Given the description of an element on the screen output the (x, y) to click on. 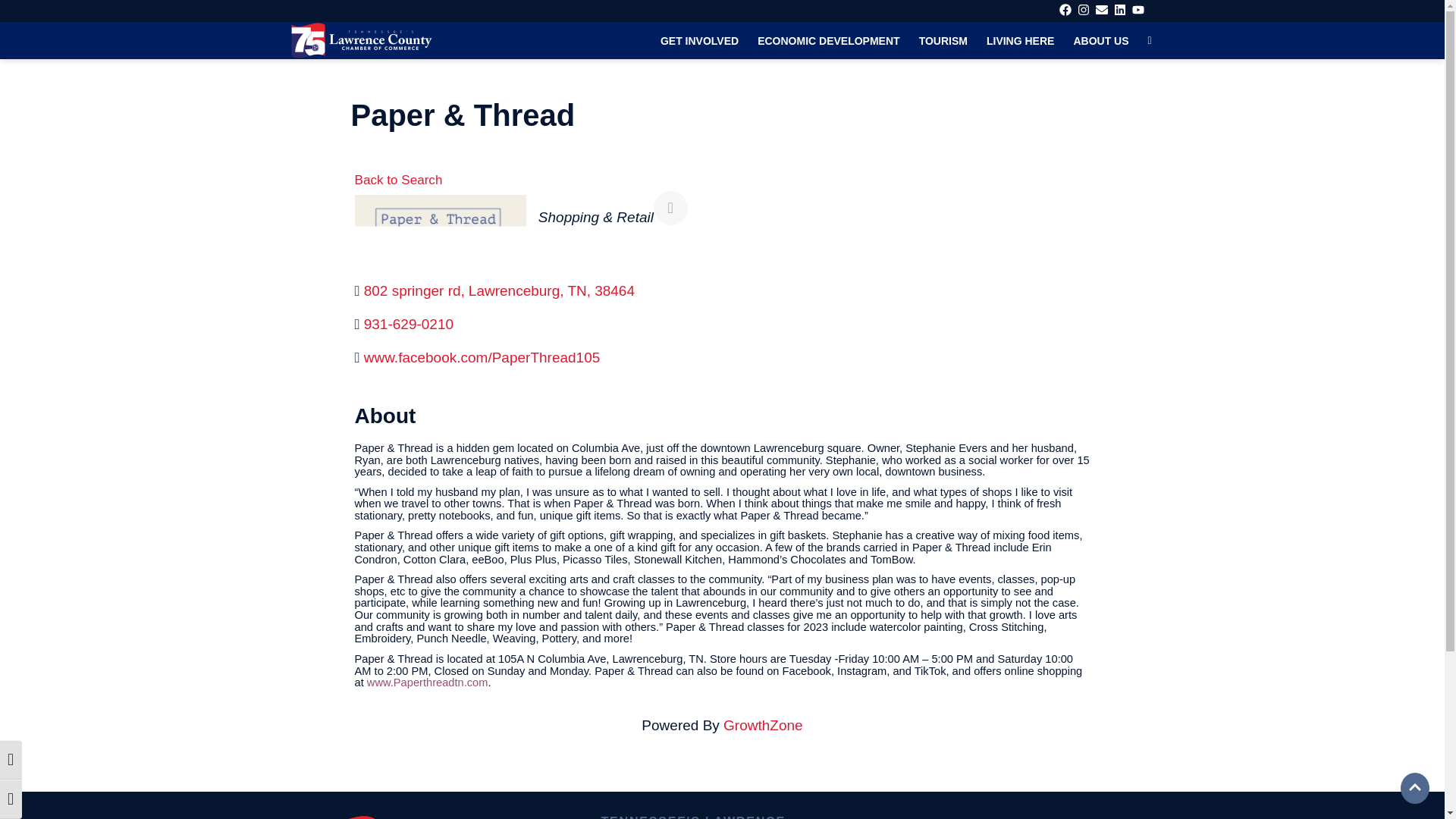
TOURISM (943, 40)
LIVING HERE (1020, 40)
GET INVOLVED (699, 40)
ECONOMIC DEVELOPMENT (828, 40)
ABOUT US (1100, 40)
